Given the description of an element on the screen output the (x, y) to click on. 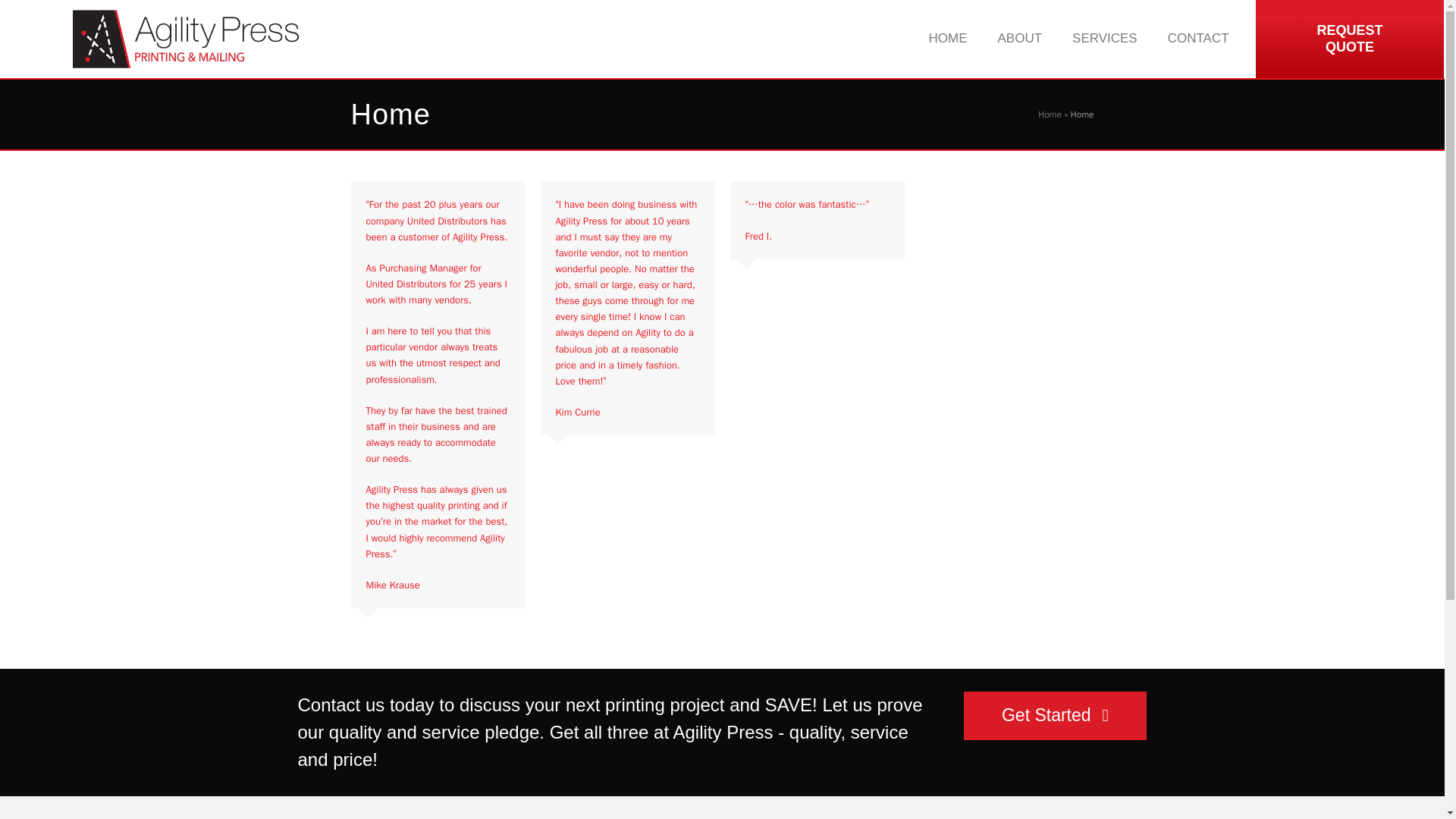
Get Started (1055, 715)
HOME (1350, 38)
ABOUT (946, 38)
SERVICES (1019, 38)
Home (1105, 38)
CONTACT (1049, 114)
